Given the description of an element on the screen output the (x, y) to click on. 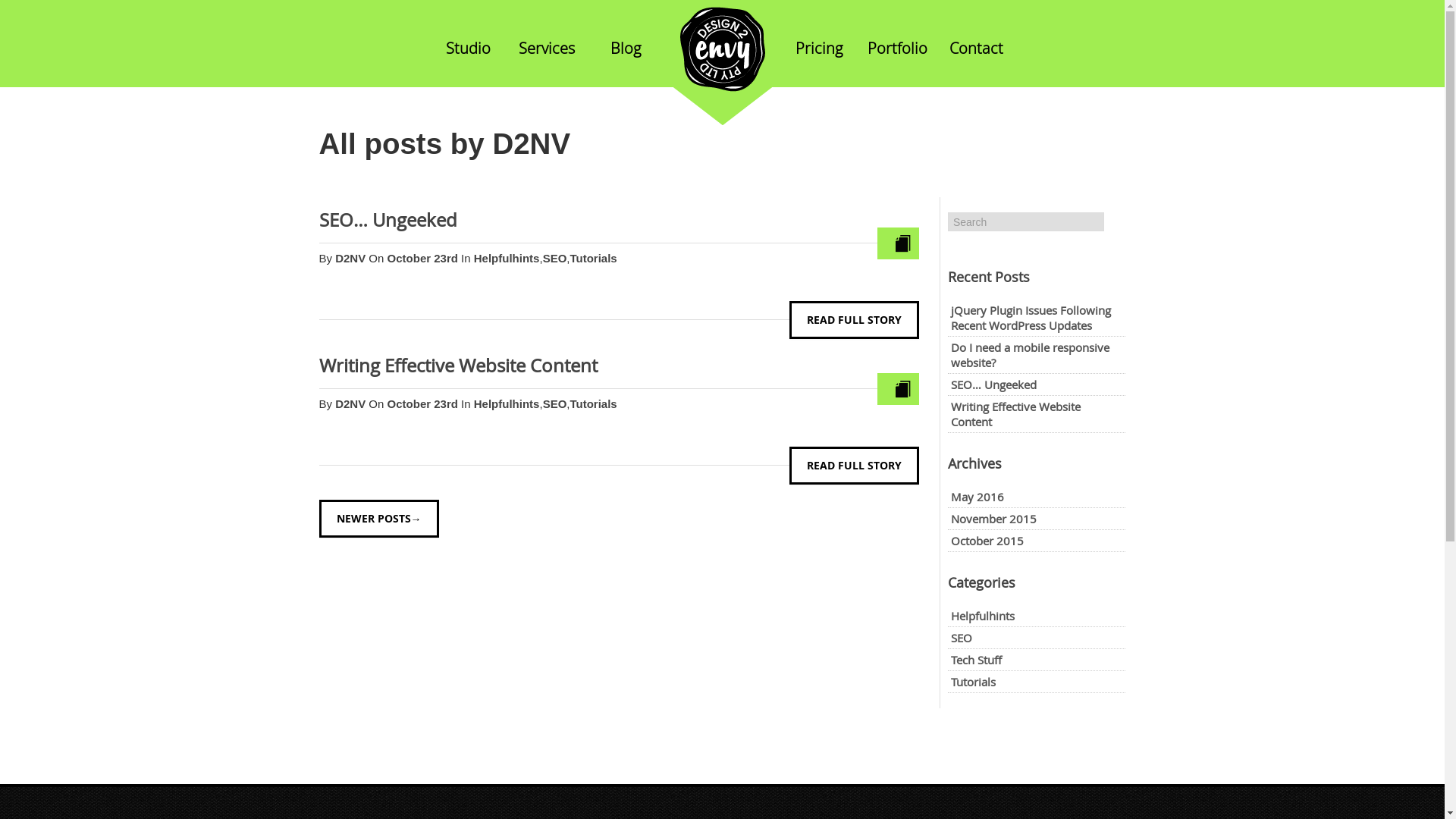
Format Element type: hover (903, 243)
D2NV Element type: text (350, 403)
Do I need a mobile responsive website? Element type: text (1029, 354)
May 2016 Element type: text (977, 496)
Tech Stuff Element type: text (975, 659)
READ FULL STORY Element type: text (854, 465)
Format Element type: hover (903, 388)
Writing Effective Website Content Element type: text (1015, 413)
October 23rd Element type: text (424, 257)
Contact Element type: text (976, 47)
Helpfulhints Element type: text (982, 615)
Pricing Element type: text (818, 47)
Tutorials Element type: text (592, 257)
Tutorials Element type: text (972, 681)
jQuery Plugin Issues Following Recent WordPress Updates Element type: text (1030, 317)
October 23rd Element type: text (424, 403)
Helpfulhints Element type: text (506, 403)
READ FULL STORY Element type: text (854, 319)
Tutorials Element type: text (592, 403)
Writing Effective Website Content Element type: text (457, 365)
Studio Element type: text (467, 47)
SEO Element type: text (554, 257)
SEO Element type: text (961, 637)
Blog Element type: text (625, 47)
Services Element type: text (546, 47)
SEO Element type: text (554, 403)
Helpfulhints Element type: text (506, 257)
October 2015 Element type: text (986, 540)
November 2015 Element type: text (993, 518)
Design 2 Envy Element type: hover (722, 64)
D2NV Element type: text (350, 257)
Portfolio Element type: text (897, 47)
